Given the description of an element on the screen output the (x, y) to click on. 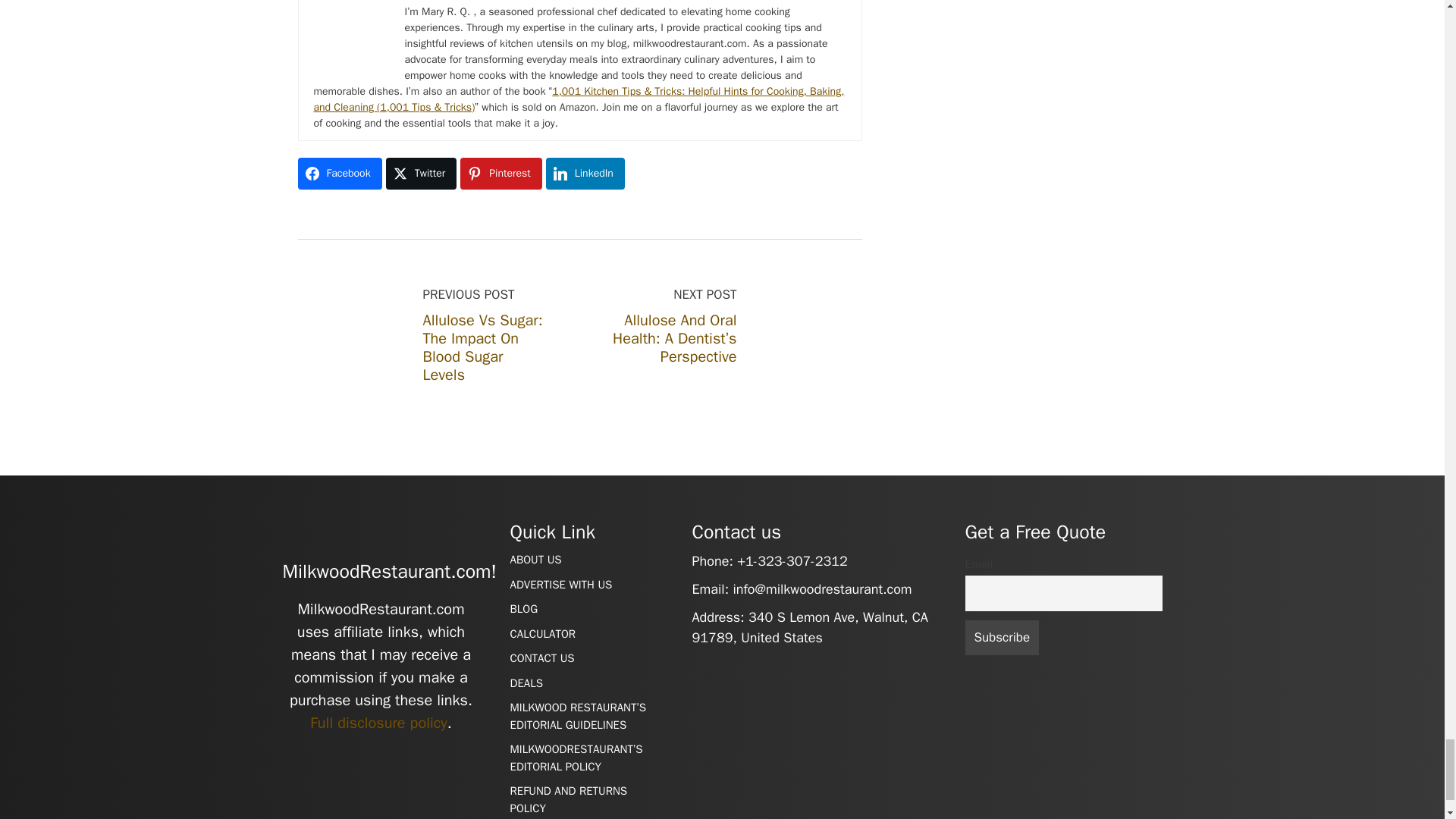
Subscribe (1000, 637)
